Given the description of an element on the screen output the (x, y) to click on. 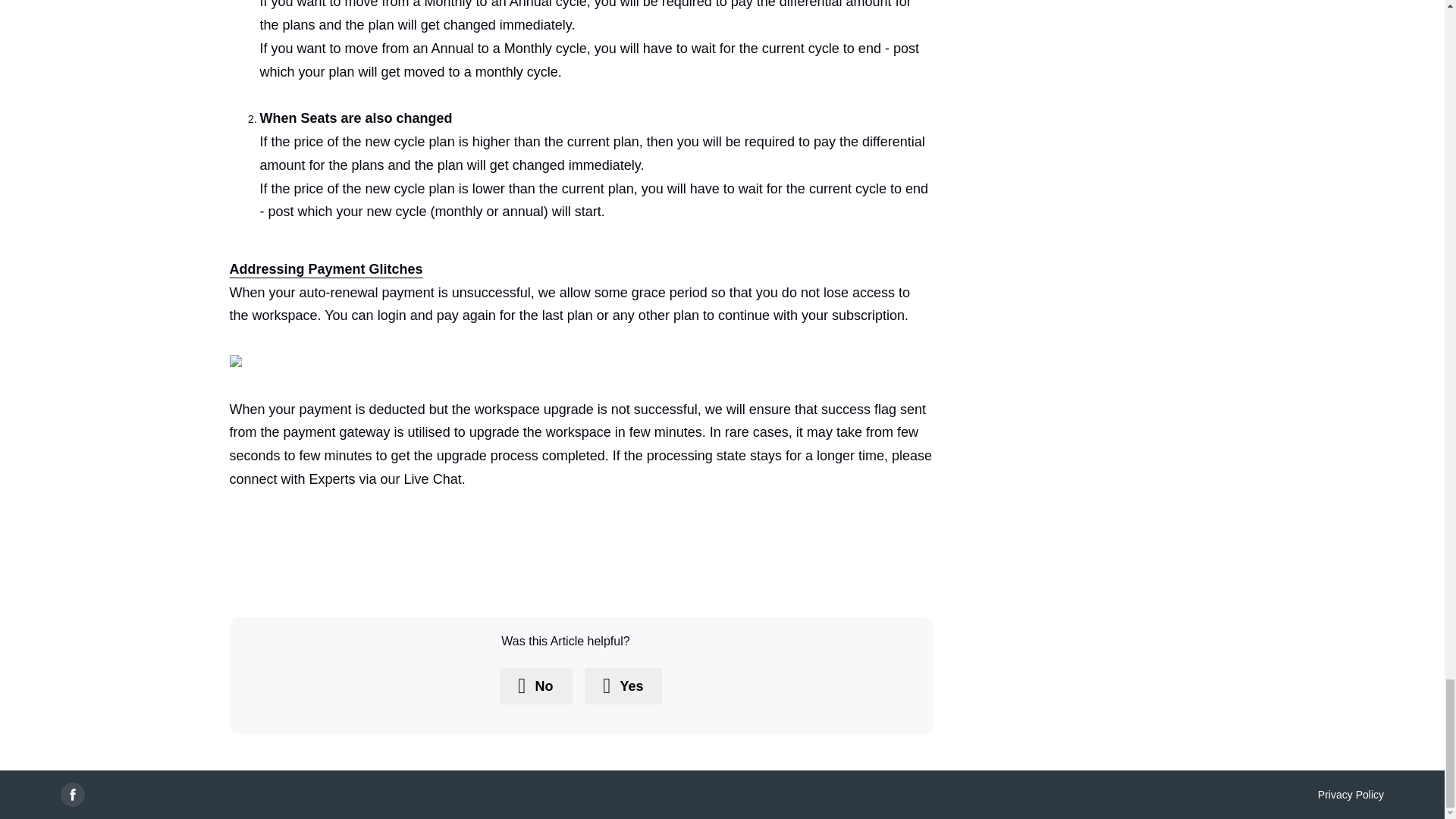
Privacy Policy (1350, 794)
No (535, 686)
Yes (623, 686)
